Given the description of an element on the screen output the (x, y) to click on. 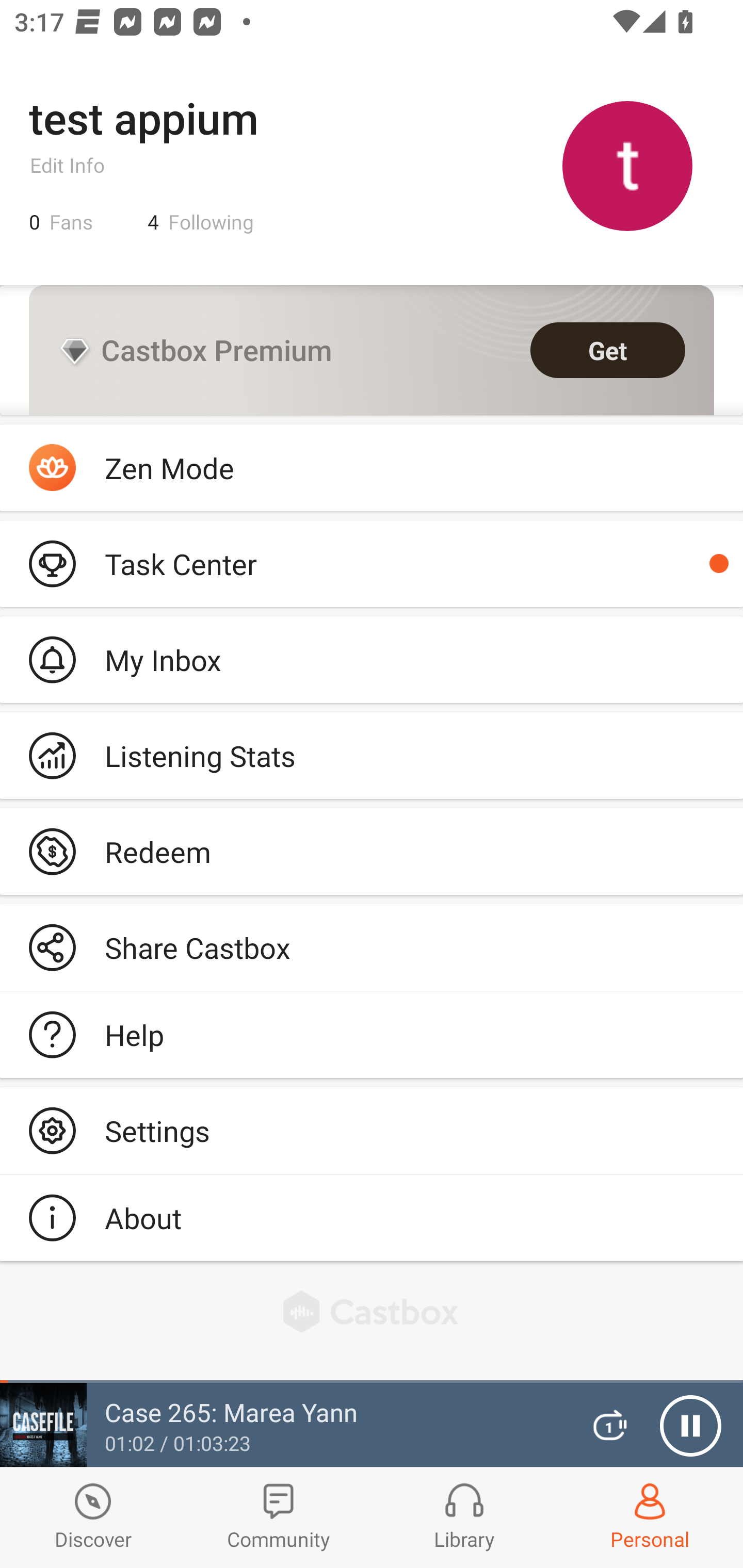
test appium Edit Info 0 Fans 4 Following (371, 165)
0 Fans (60, 221)
4 Following (200, 221)
Castbox Premium Get (371, 350)
Get (607, 350)
Zen Mode (371, 467)
Podcaster  Task Center (371, 563)
 My Inbox (371, 659)
 Listening Stats (371, 755)
 Redeem (371, 851)
 Share Castbox (371, 947)
 Help (371, 1034)
 Settings (371, 1130)
 About (371, 1217)
Case 265: Marea Yann 01:01 / 01:03:23 (283, 1424)
Pause (690, 1425)
Discover (92, 1517)
Community (278, 1517)
Library (464, 1517)
Profiles and Settings Personal (650, 1517)
